Given the description of an element on the screen output the (x, y) to click on. 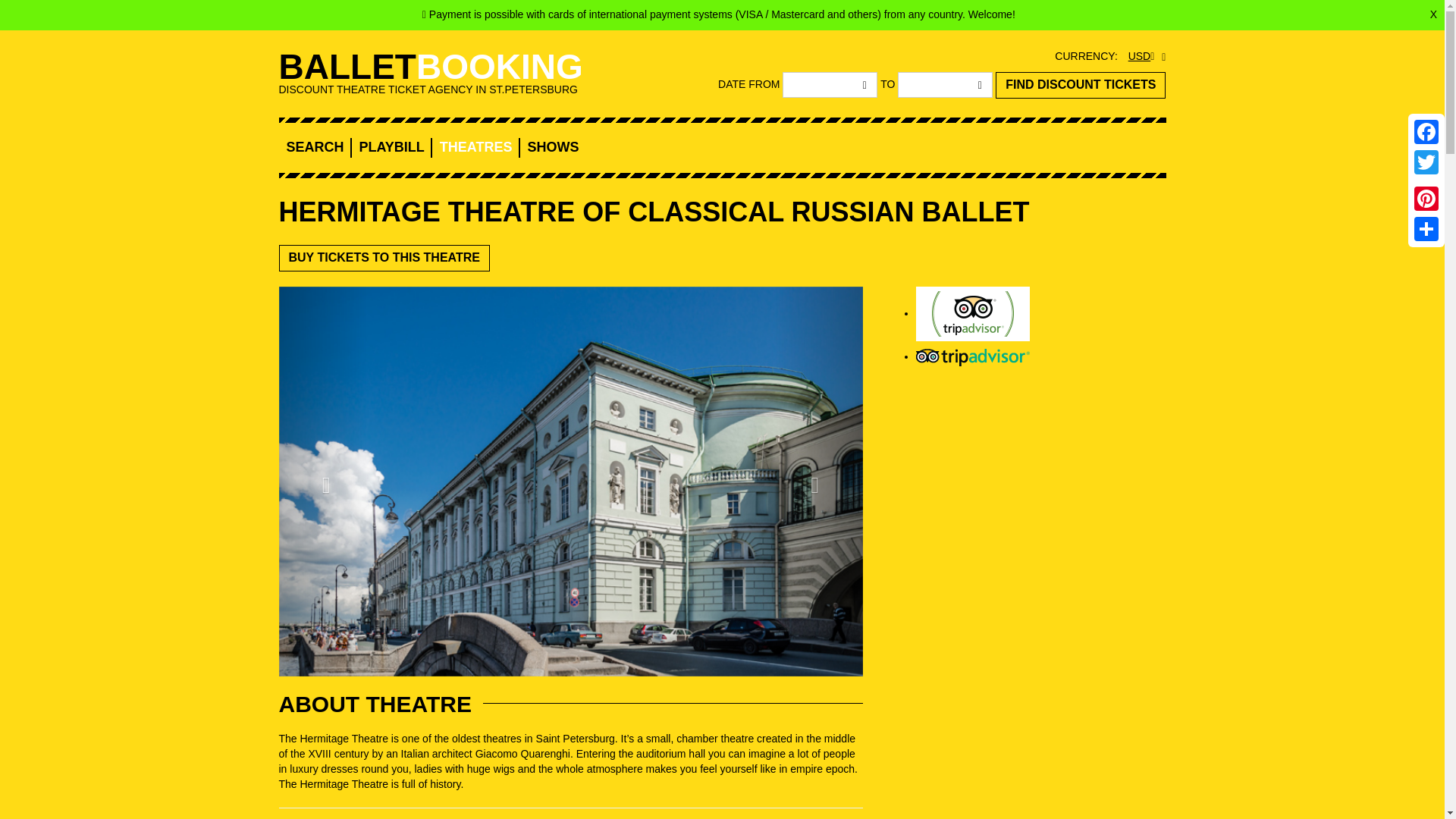
PLAYBILL (392, 146)
Pinterest (1425, 198)
Twitter (1425, 162)
BUY TICKETS TO THIS THEATRE (384, 257)
SEARCH (314, 146)
THEATRES (475, 146)
Facebook (1425, 132)
SHOWS (553, 146)
FIND DISCOUNT TICKETS (1080, 85)
